Given the description of an element on the screen output the (x, y) to click on. 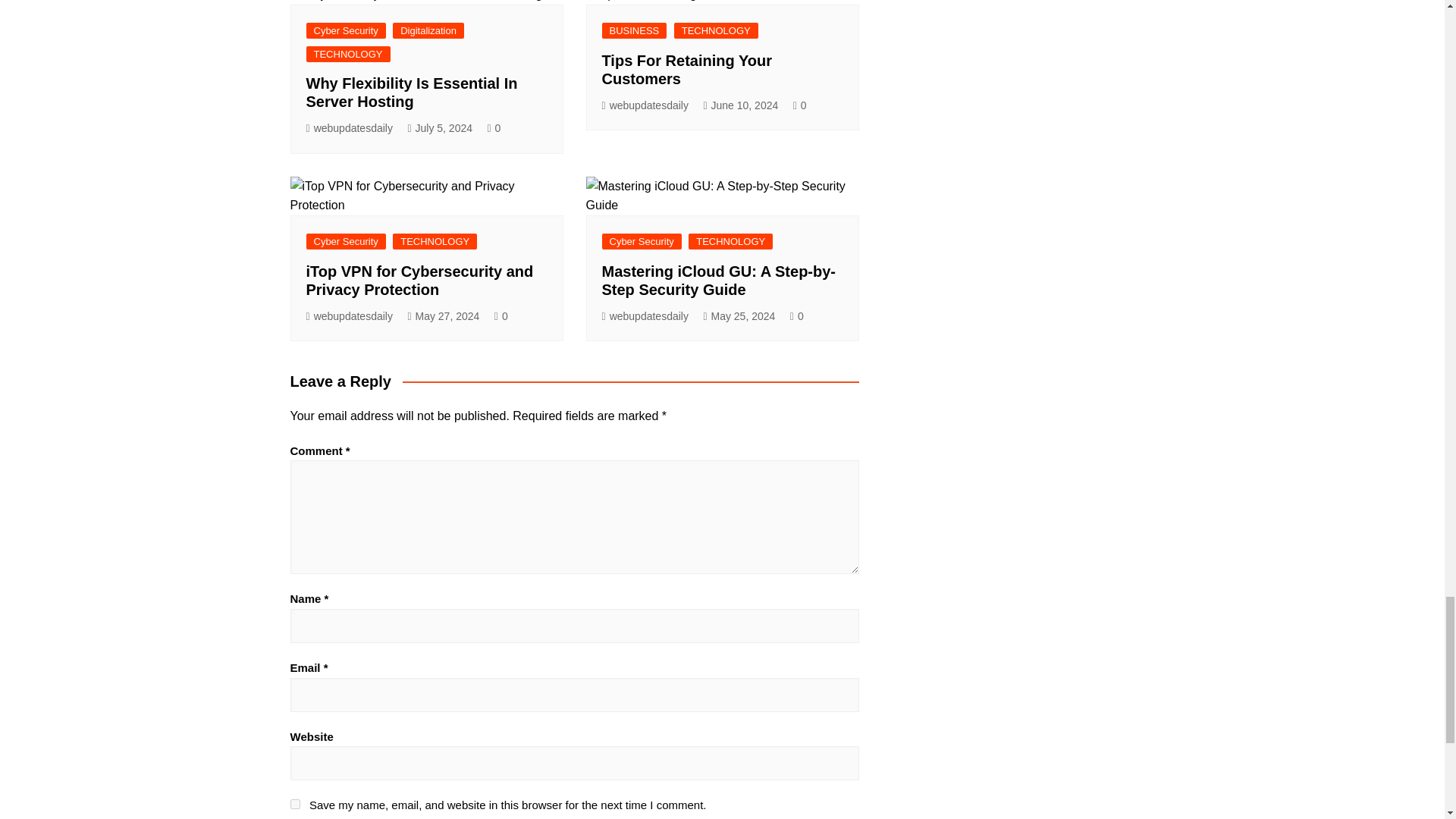
yes (294, 804)
